Given the description of an element on the screen output the (x, y) to click on. 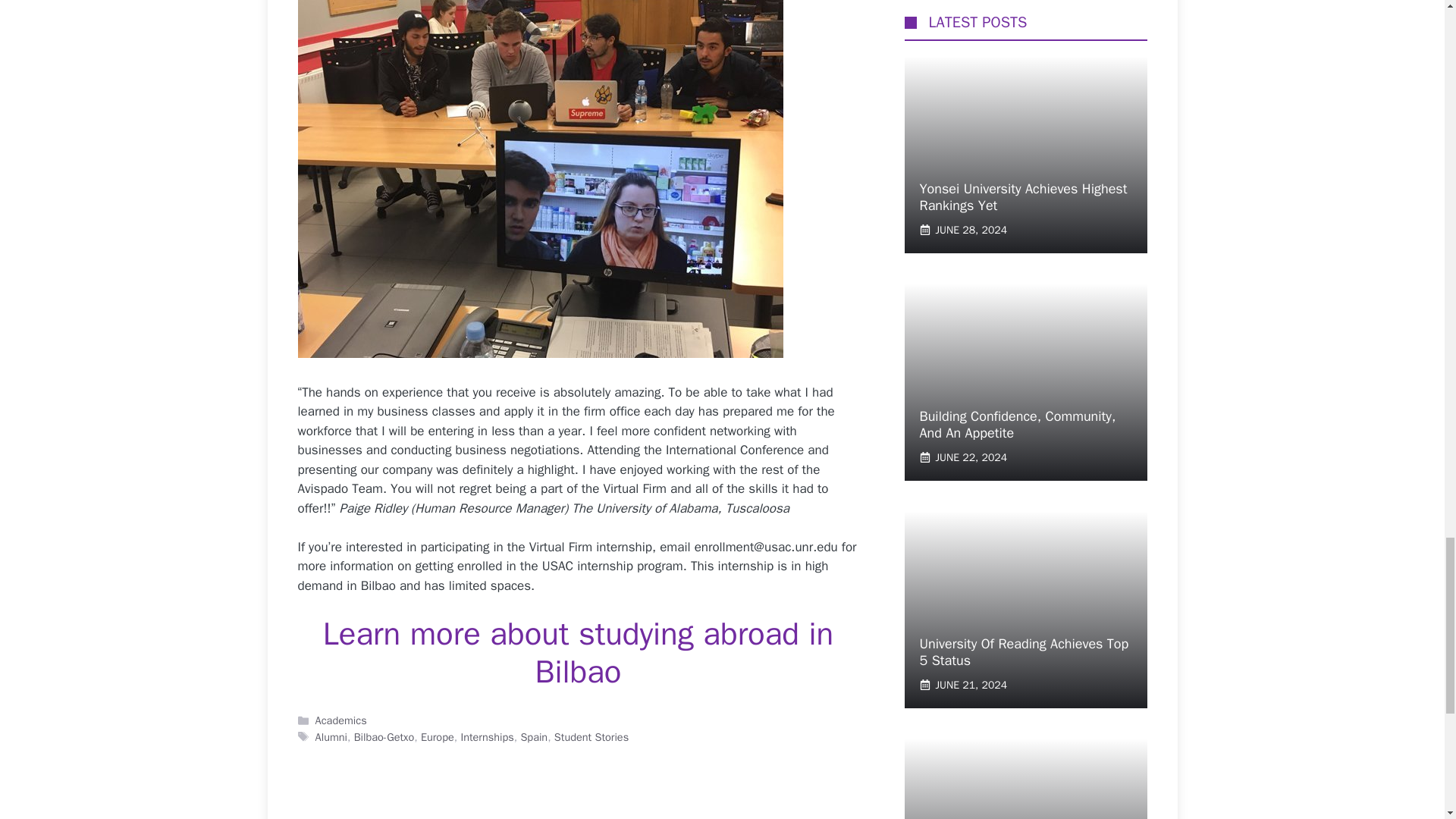
Student Stories (591, 736)
Academics (340, 720)
Internships (486, 736)
Europe (437, 736)
Alumni (331, 736)
Bilbao-Getxo (383, 736)
Spain (533, 736)
Learn more about studying abroad in Bilbao (578, 652)
